Given the description of an element on the screen output the (x, y) to click on. 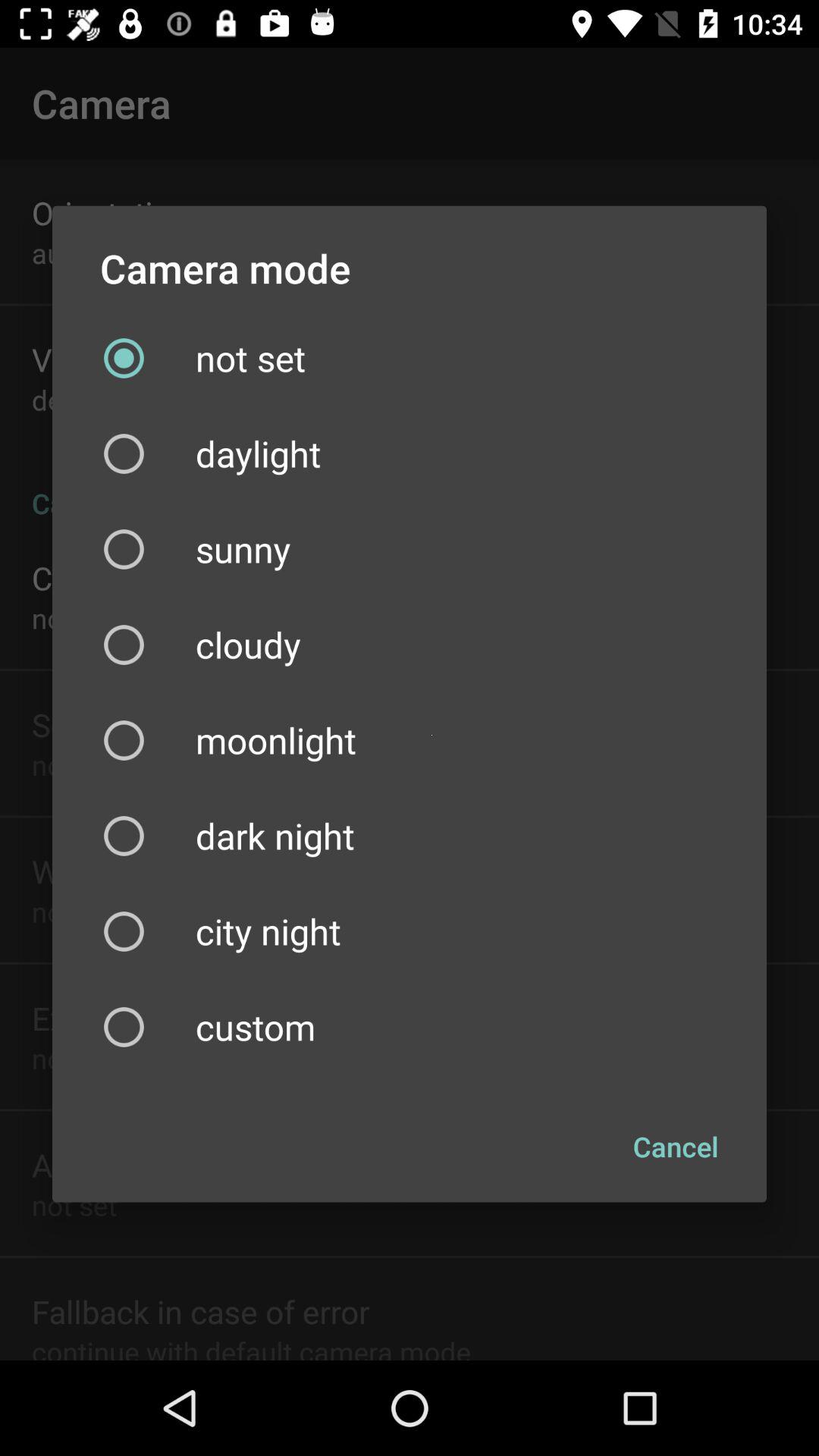
jump until the cancel (675, 1146)
